Given the description of an element on the screen output the (x, y) to click on. 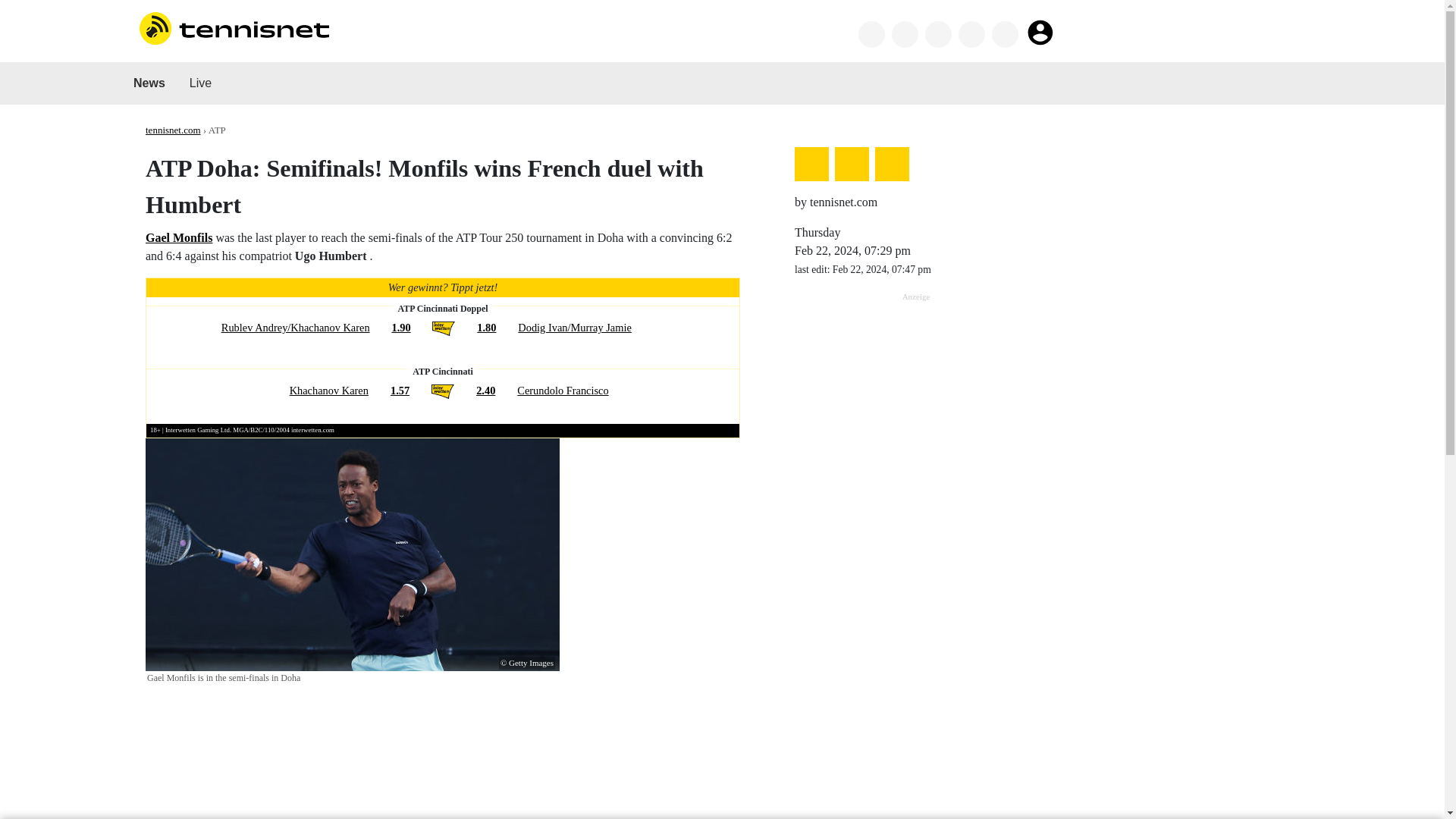
Tennisnet auf Instagram (971, 34)
UBITENNIS (758, 31)
1.80 (486, 327)
Khachanov Karen (328, 390)
Homepage tennisnet.com (234, 26)
Gael Monfils steht in Doha im Halbfinale (352, 554)
tennisnet.com (172, 129)
1.90 (400, 327)
Gael Monfils (178, 236)
monfils (178, 236)
